Given the description of an element on the screen output the (x, y) to click on. 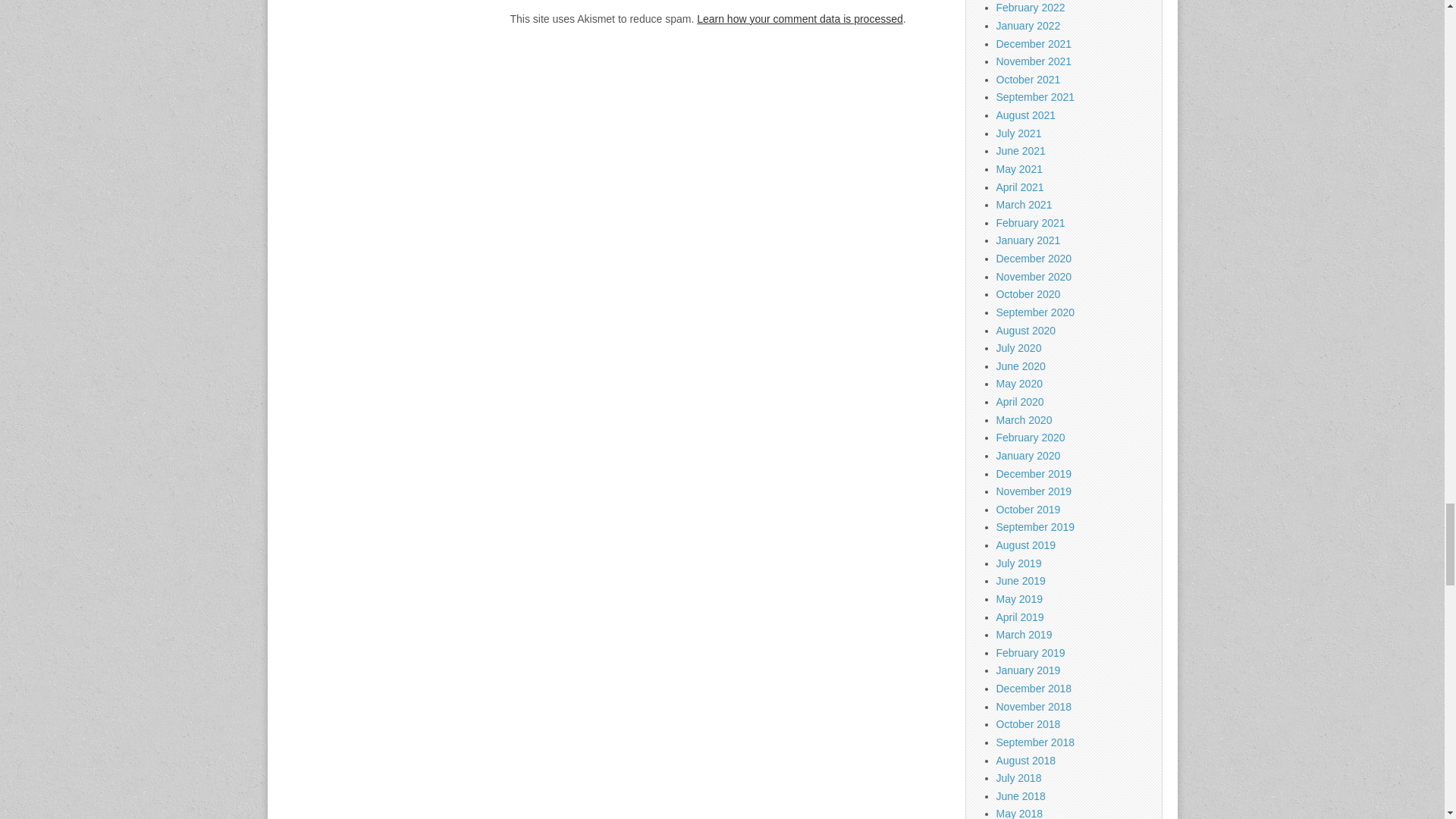
Learn how your comment data is processed (799, 19)
